Given the description of an element on the screen output the (x, y) to click on. 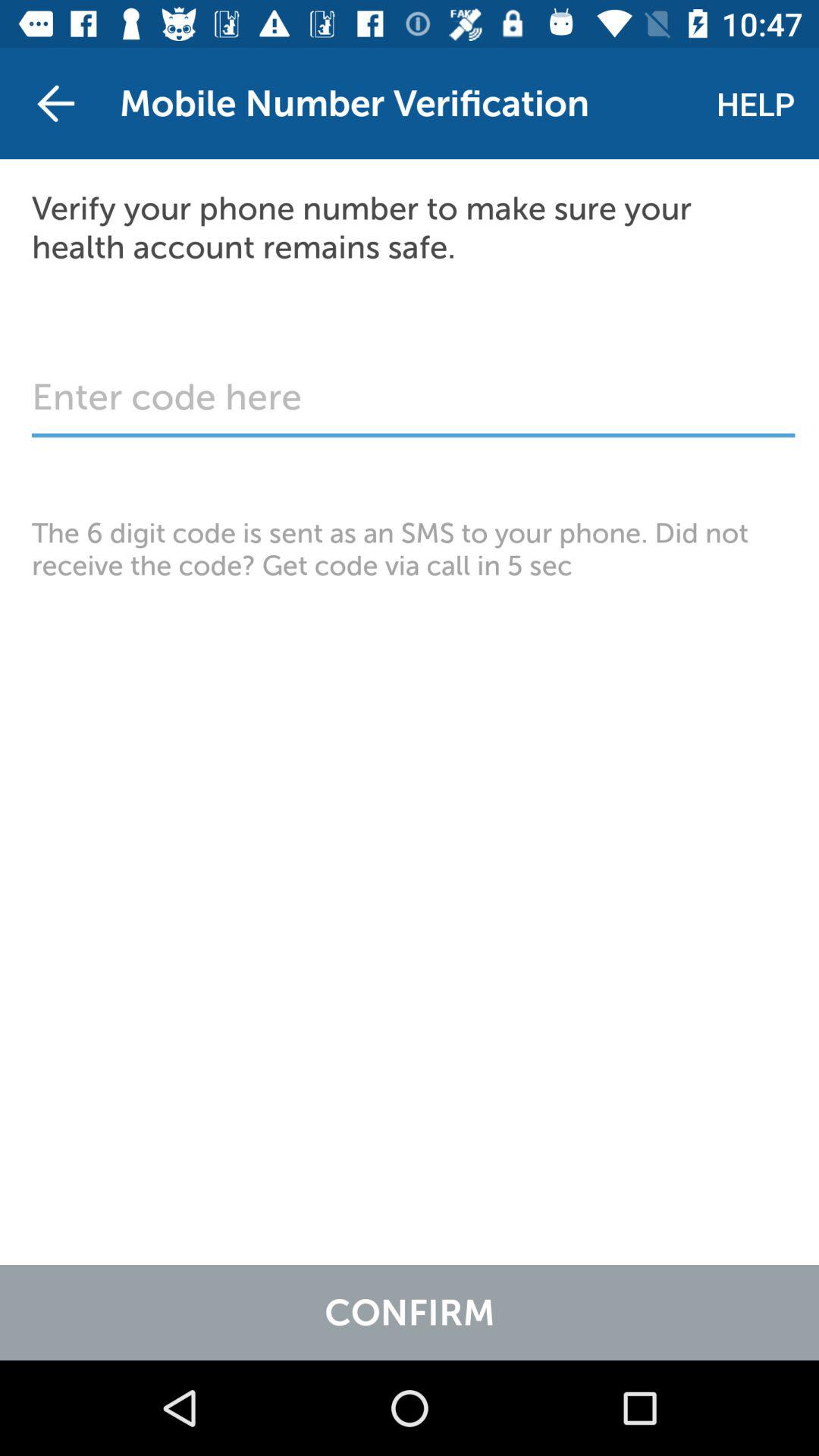
open the item to the right of mobile number verification app (755, 103)
